Given the description of an element on the screen output the (x, y) to click on. 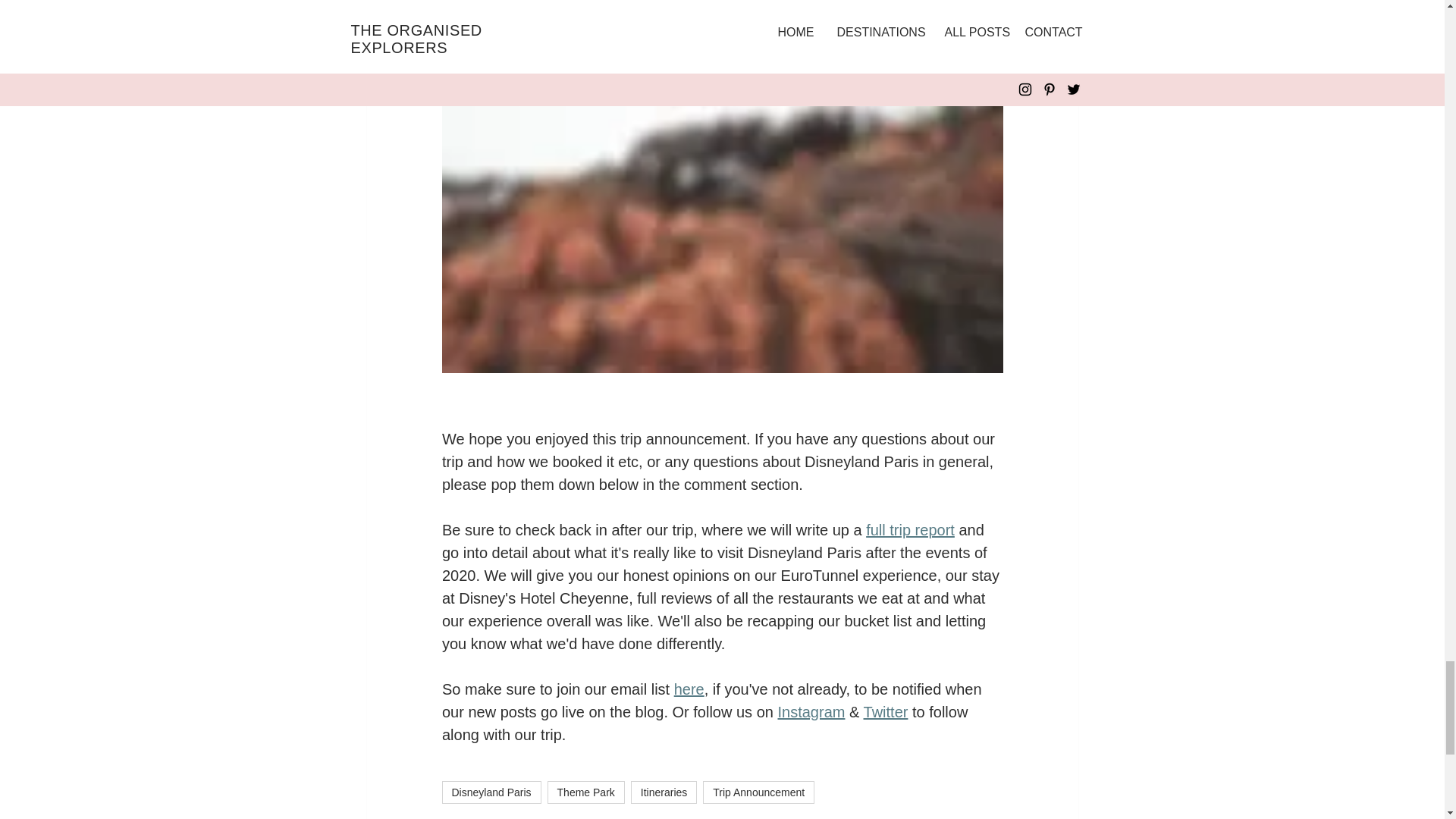
Twitter (885, 711)
Itineraries (663, 792)
Instagram (810, 711)
Theme Park (585, 792)
here (687, 688)
full trip report (910, 529)
Disneyland Paris (490, 792)
Trip Announcement (758, 792)
